Given the description of an element on the screen output the (x, y) to click on. 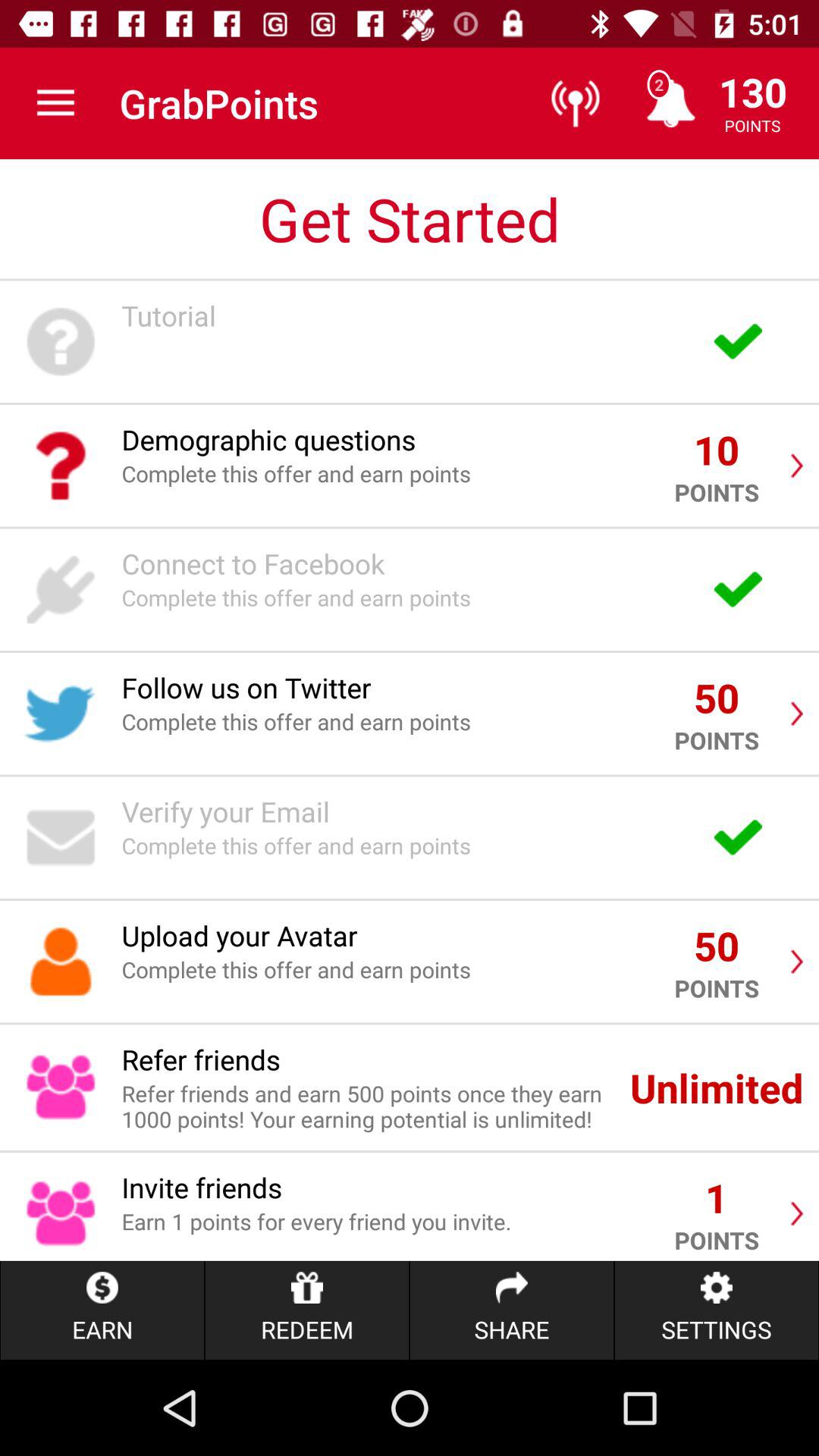
select the item below the earn 1 points (511, 1310)
